Given the description of an element on the screen output the (x, y) to click on. 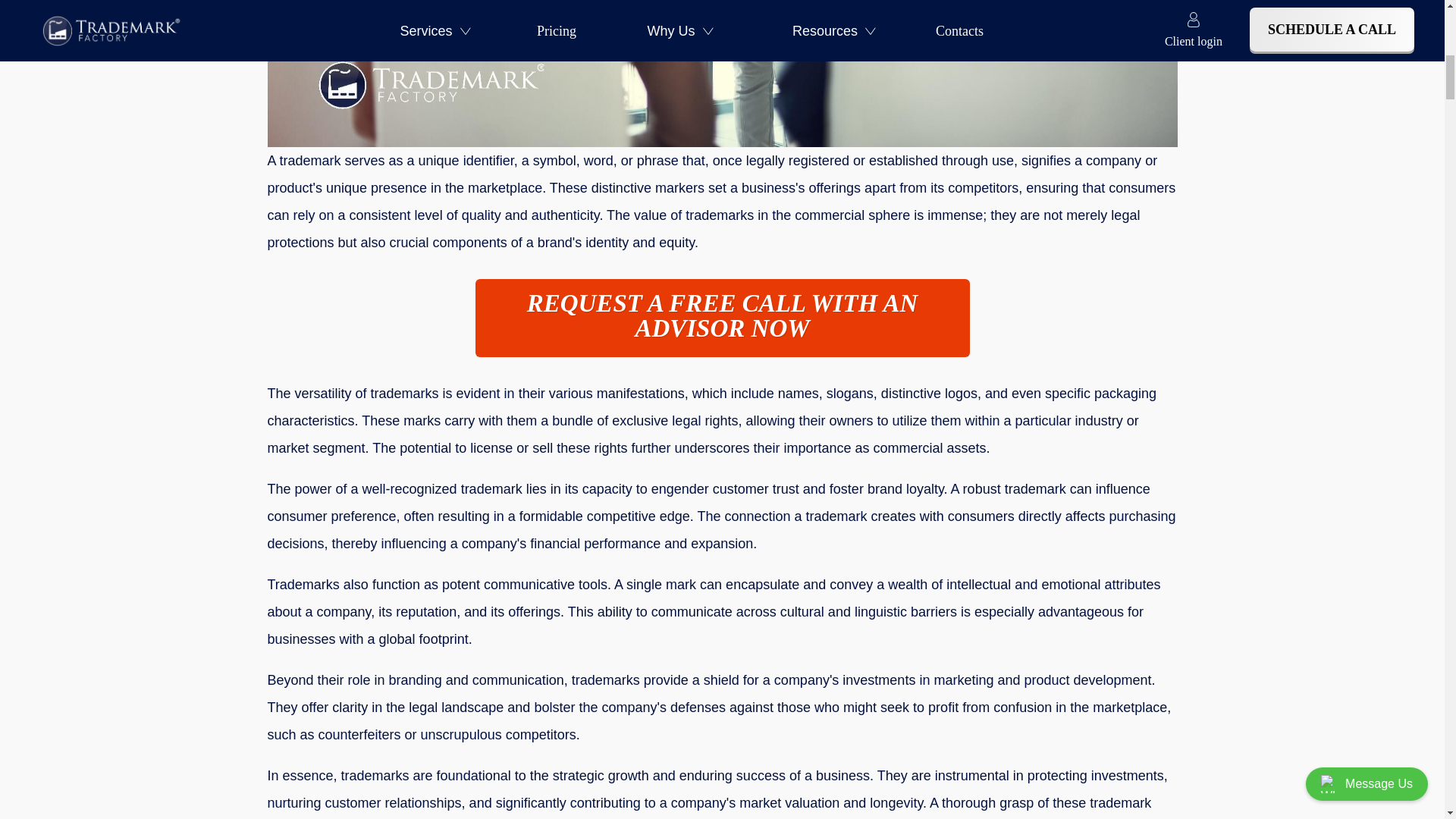
REQUEST A FREE CALL WITH AN ADVISOR NOW (721, 318)
